Given the description of an element on the screen output the (x, y) to click on. 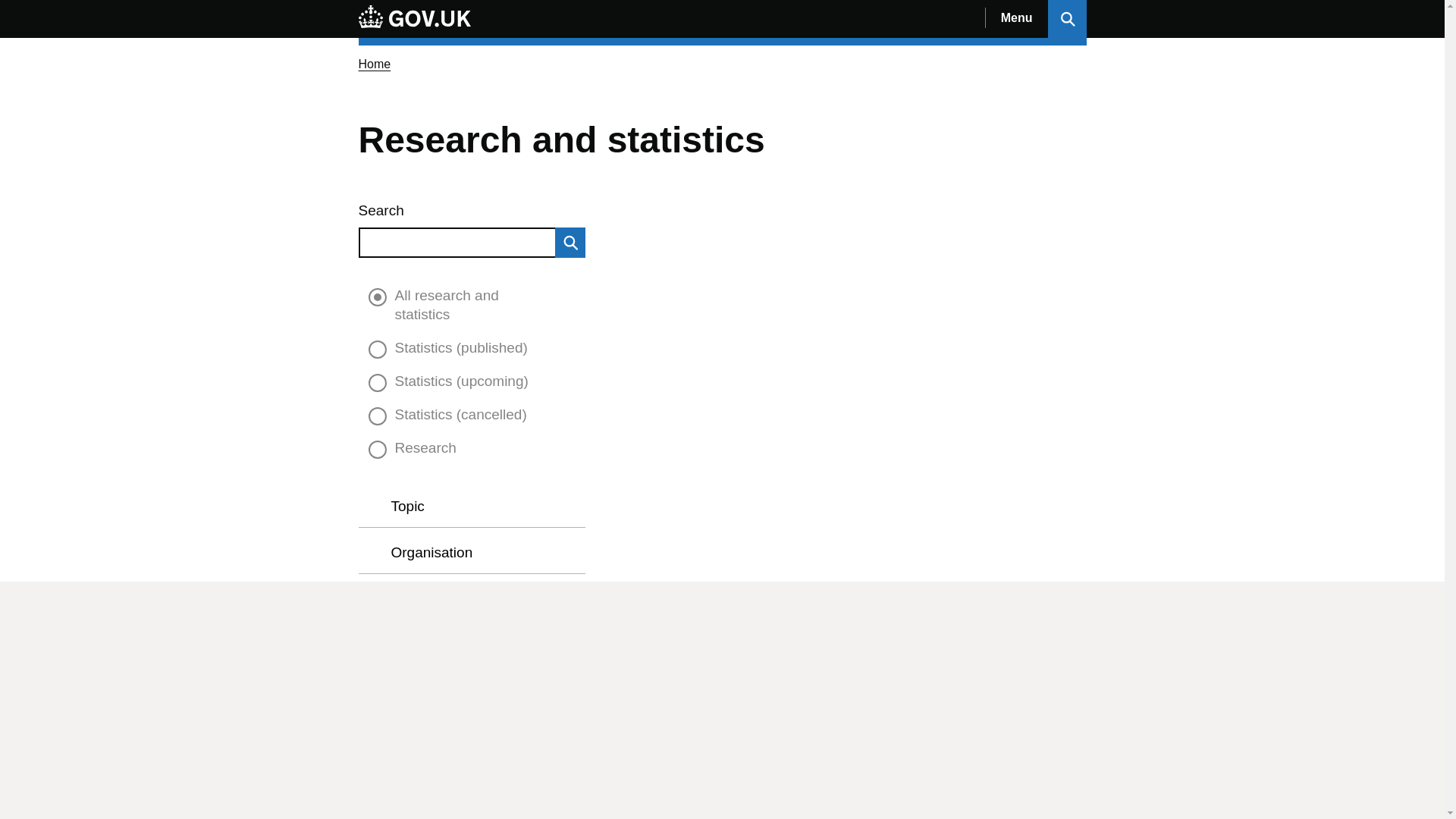
Search GOV.UK (1067, 18)
Search (456, 242)
Skip to main content (11, 7)
Search (569, 242)
GOV.UK (414, 15)
Home (374, 63)
Skip to results (369, 288)
GOV.UK (414, 18)
Menu (1016, 18)
